Given the description of an element on the screen output the (x, y) to click on. 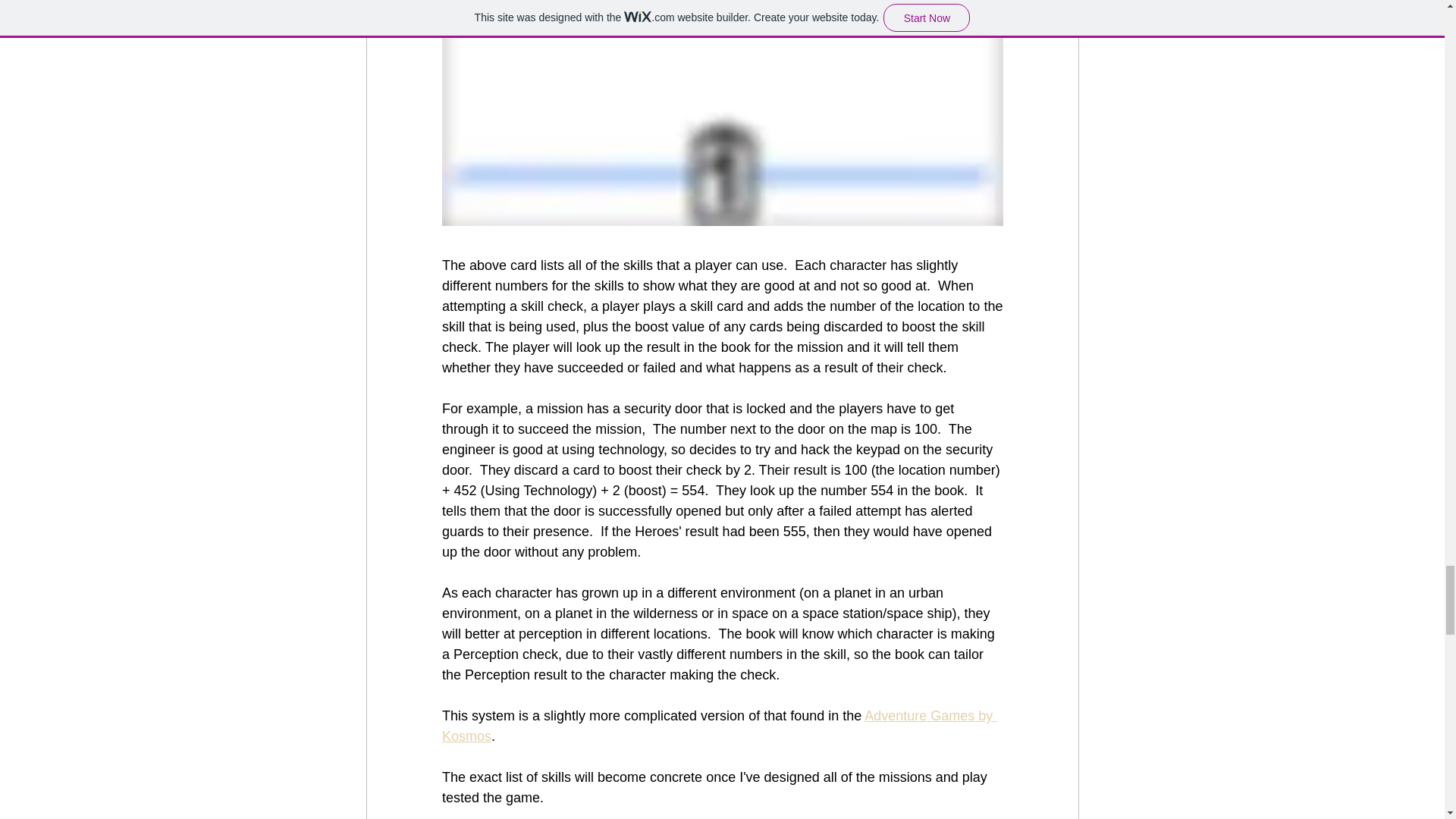
Adventure Games by Kosmos (718, 725)
